Given the description of an element on the screen output the (x, y) to click on. 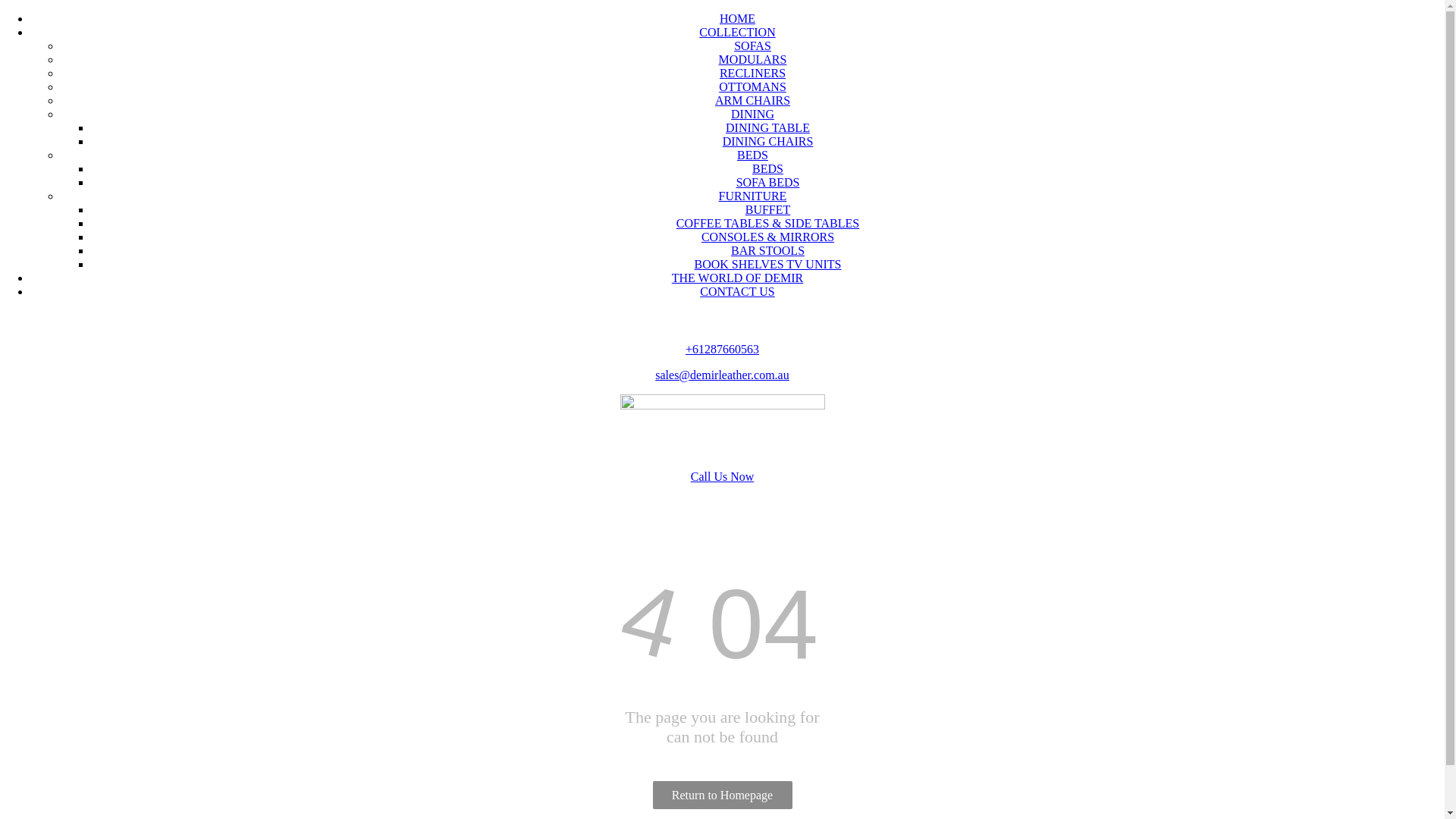
Call Us Now Element type: text (722, 476)
ARM CHAIRS Element type: text (752, 100)
BEDS Element type: text (752, 154)
FURNITURE Element type: text (752, 195)
DINING CHAIRS Element type: text (767, 140)
OTTOMANS Element type: text (752, 86)
MODULARS Element type: text (752, 59)
sales@demirleather.com.au Element type: text (721, 374)
BUFFET Element type: text (767, 209)
BAR STOOLS Element type: text (767, 250)
COFFEE TABLES & SIDE TABLES Element type: text (767, 222)
COLLECTION Element type: text (737, 31)
Return to Homepage Element type: text (721, 795)
RECLINERS Element type: text (752, 72)
SOFAS Element type: text (752, 45)
BOOK SHELVES TV UNITS Element type: text (767, 263)
THE WORLD OF DEMIR Element type: text (737, 277)
CONSOLES & MIRRORS Element type: text (767, 236)
DINING Element type: text (752, 113)
SOFA BEDS Element type: text (768, 181)
DINING TABLE Element type: text (767, 127)
BEDS Element type: text (767, 168)
HOME Element type: text (737, 18)
+61287660563 Element type: text (722, 348)
CONTACT US Element type: text (736, 291)
